Given the description of an element on the screen output the (x, y) to click on. 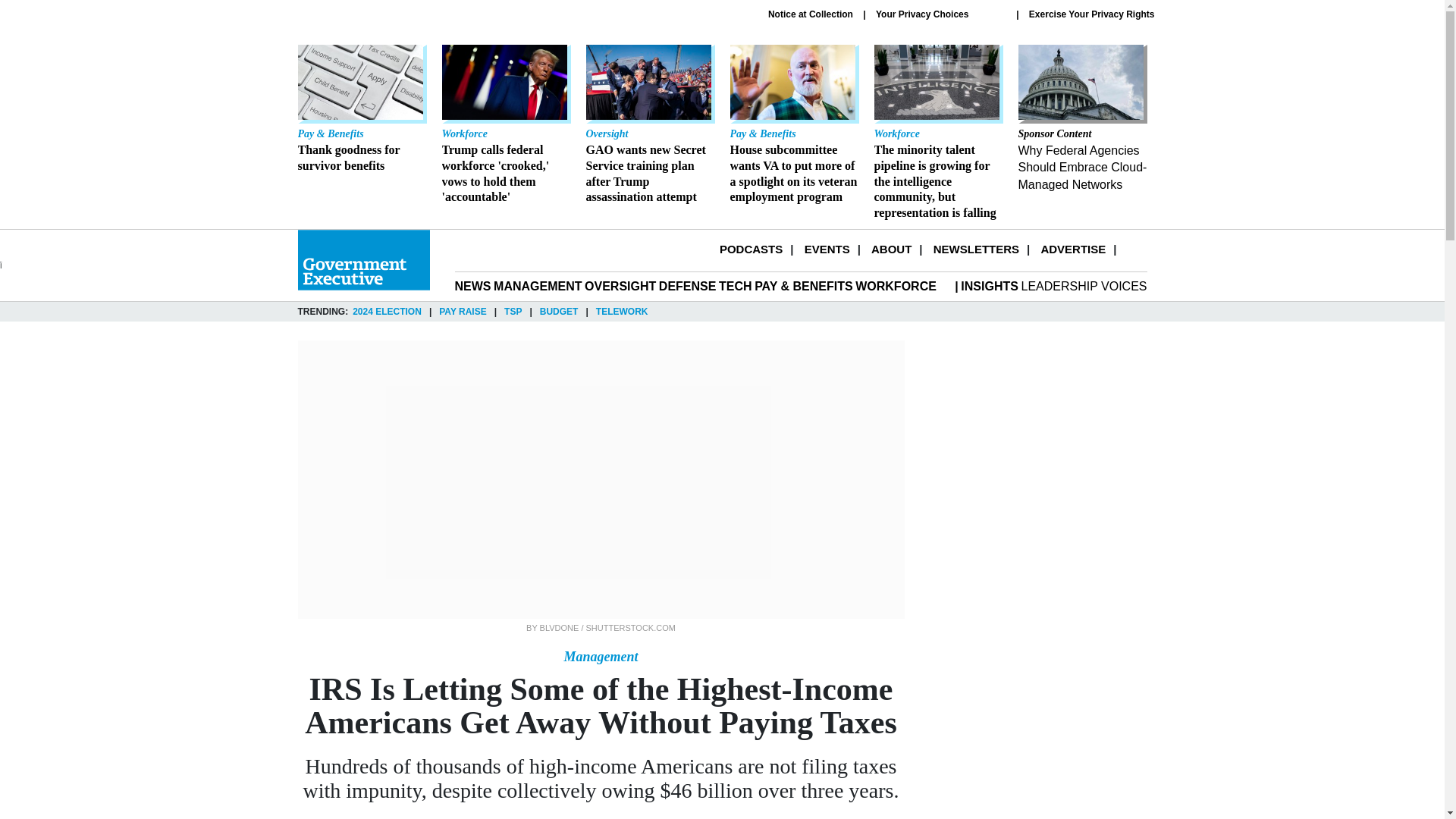
Exercise Your Privacy Rights (1091, 14)
PODCASTS (751, 248)
NEWSLETTERS (976, 248)
Notice at Collection (810, 14)
EVENTS (827, 248)
ABOUT (890, 248)
Your Privacy Choices (941, 14)
ADVERTISE (1073, 248)
